Given the description of an element on the screen output the (x, y) to click on. 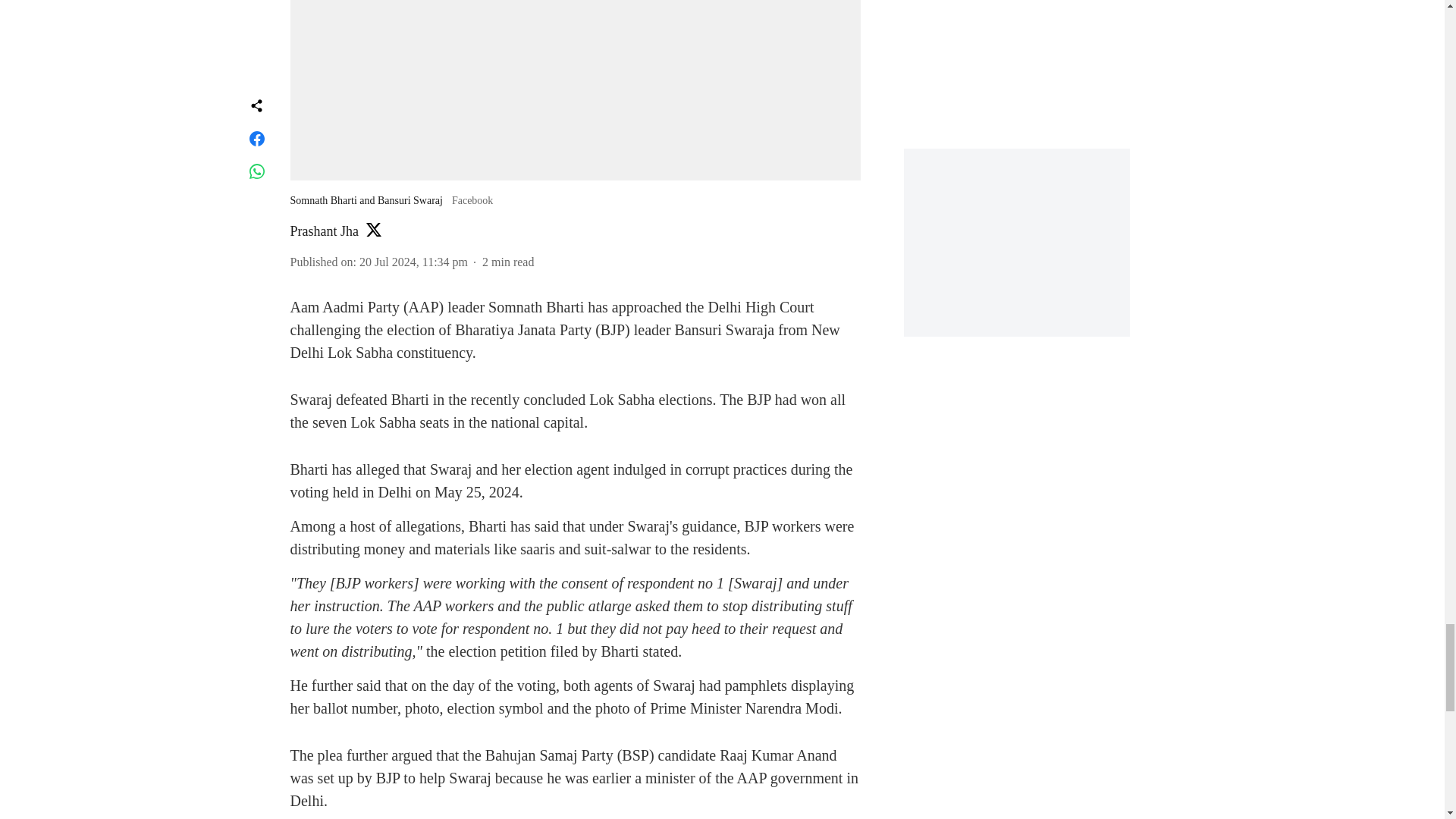
2024-07-20 15:34 (413, 261)
